Given the description of an element on the screen output the (x, y) to click on. 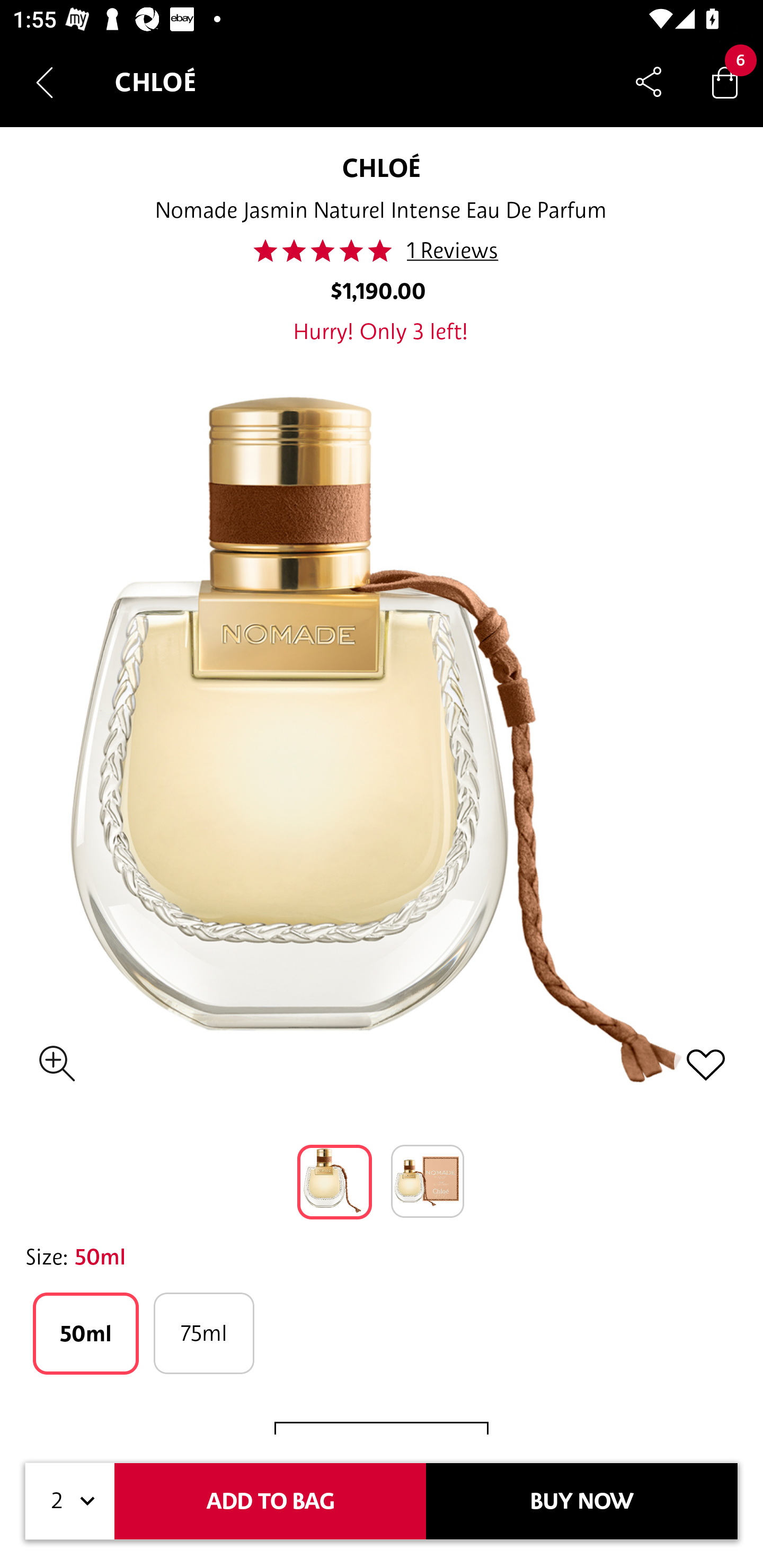
Navigate up (44, 82)
Share (648, 81)
Bag (724, 81)
CHLOÉ (381, 167)
50.0 1 Reviews (381, 250)
50ml (85, 1333)
75ml (203, 1332)
2 (69, 1500)
ADD TO BAG (269, 1500)
BUY NOW (581, 1500)
